Given the description of an element on the screen output the (x, y) to click on. 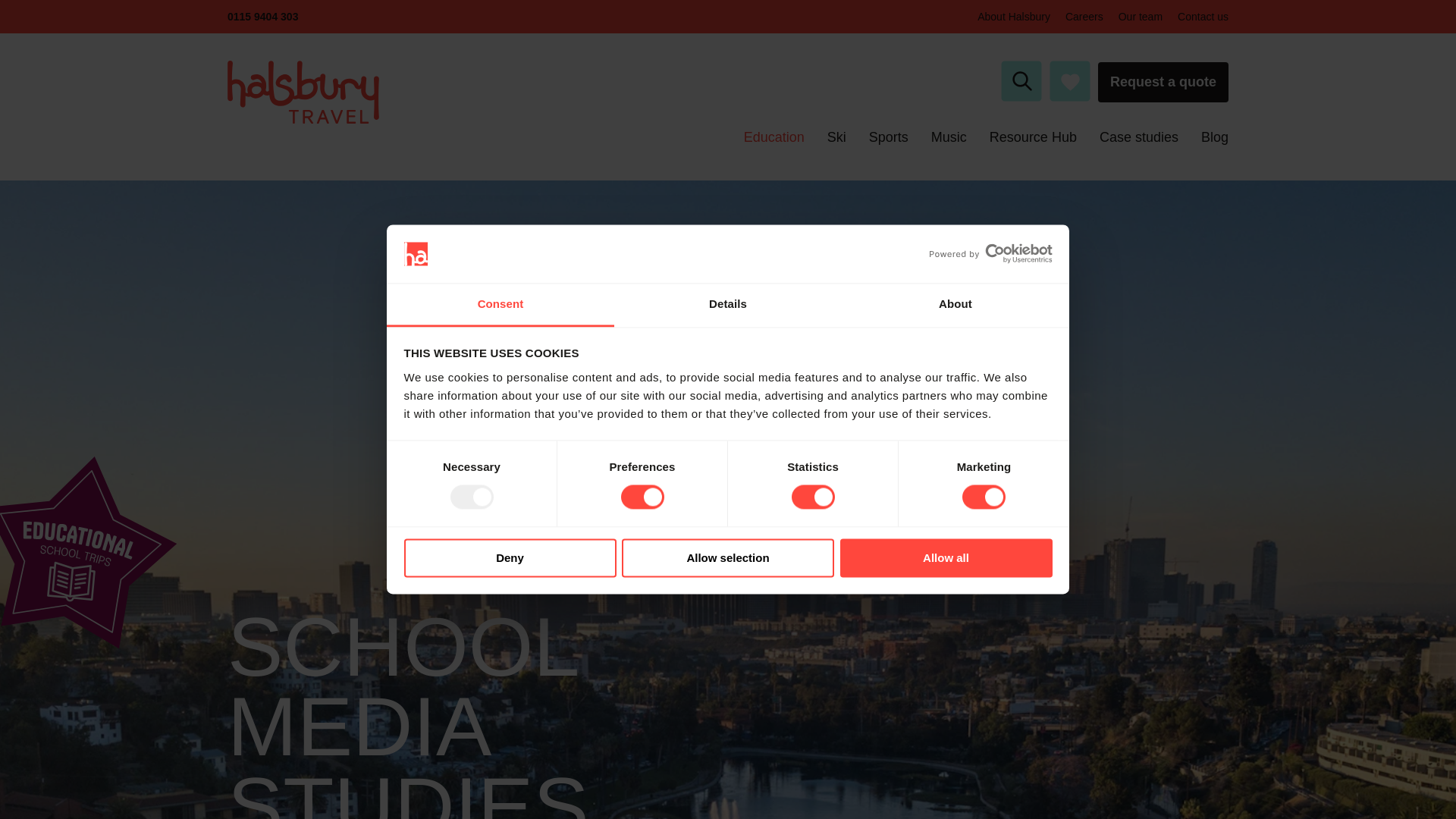
Consent (500, 304)
Allow all (946, 557)
Details (727, 304)
About (954, 304)
Deny (509, 557)
Allow selection (727, 557)
